Given the description of an element on the screen output the (x, y) to click on. 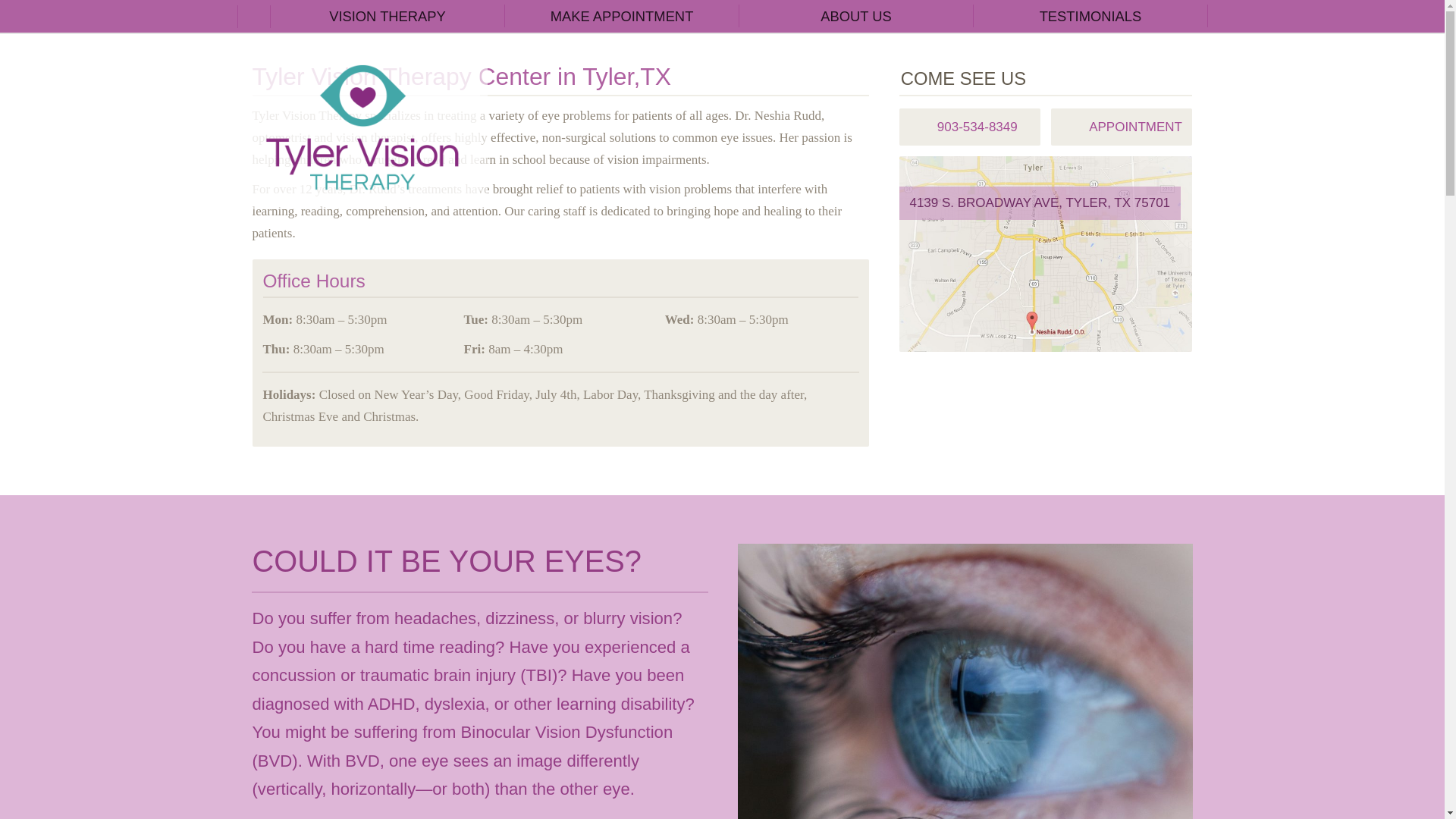
MAKE APPOINTMENT (622, 16)
TESTIMONIALS (1091, 16)
903-534-8349 (970, 126)
ABOUT US (855, 16)
Today's Vision (362, 126)
VISION THERAPY (386, 16)
APPOINTMENT (1121, 126)
